Given the description of an element on the screen output the (x, y) to click on. 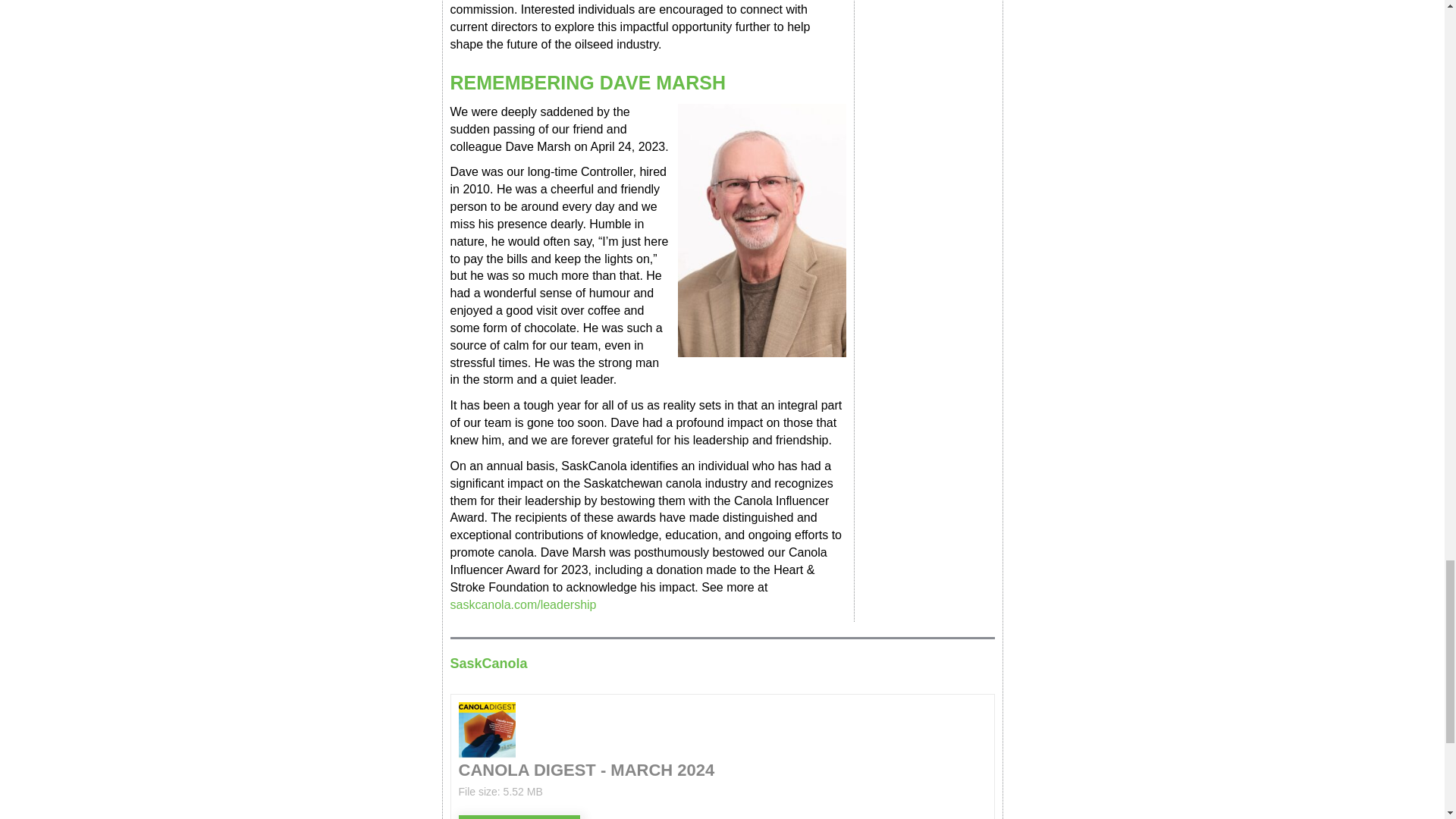
Canola Digest - March 2024 (518, 816)
